Given the description of an element on the screen output the (x, y) to click on. 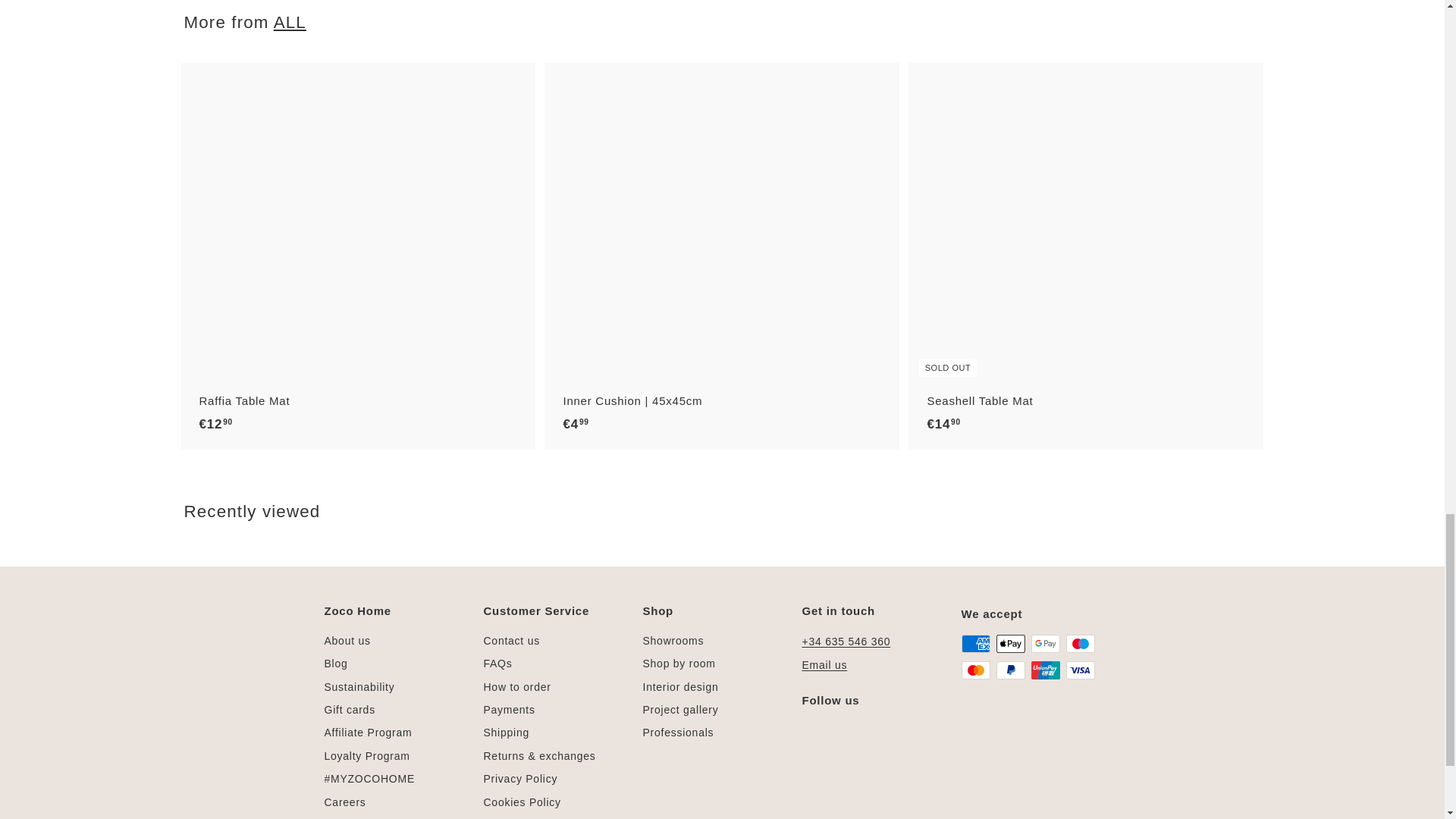
American Express (975, 643)
Union Pay (1044, 669)
Maestro (1079, 643)
Mastercard (975, 669)
Google Pay (1044, 643)
PayPal (1010, 669)
Apple Pay (1010, 643)
Visa (1079, 669)
